Given the description of an element on the screen output the (x, y) to click on. 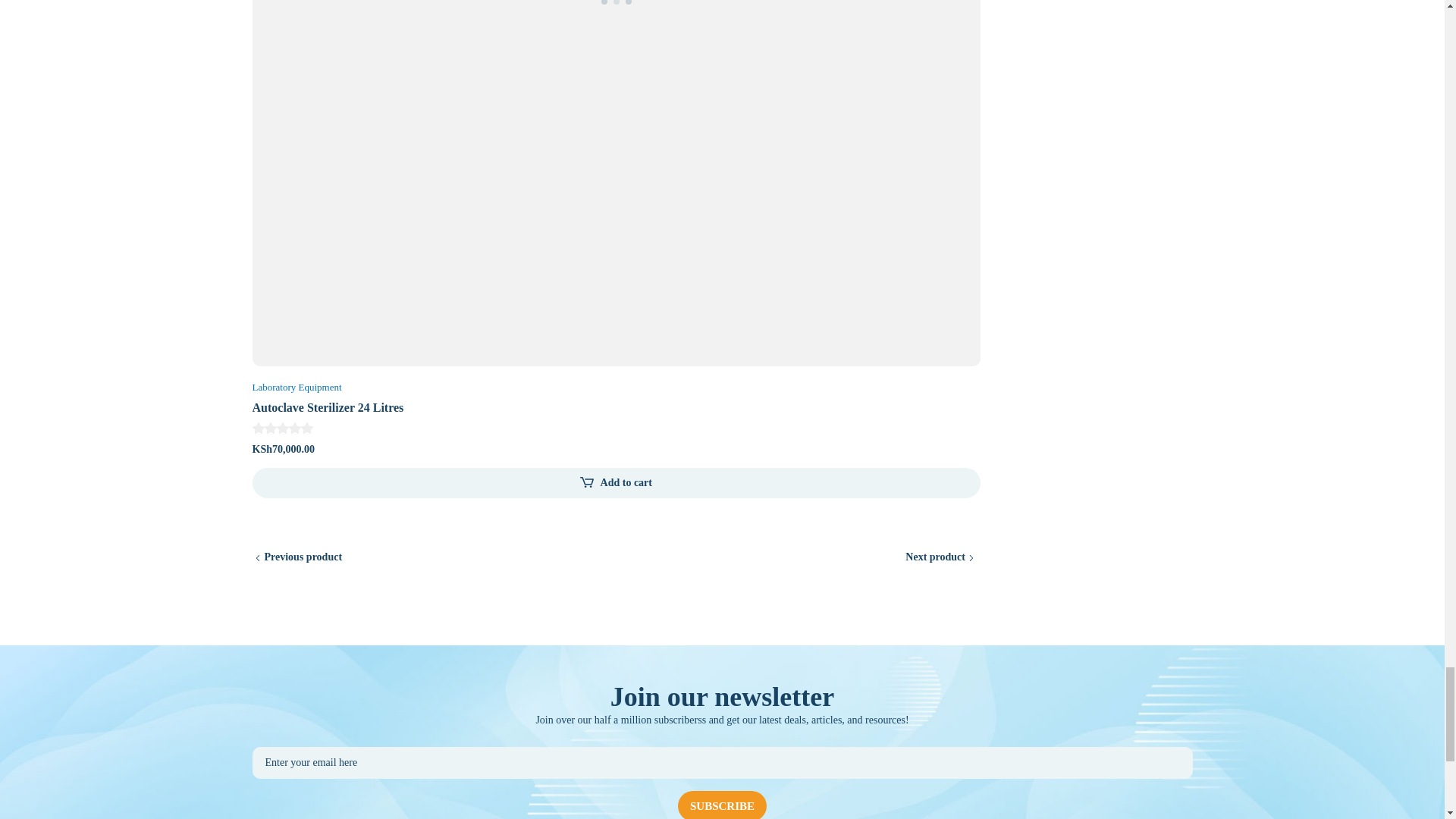
SUBSCRIBE (722, 805)
